Given the description of an element on the screen output the (x, y) to click on. 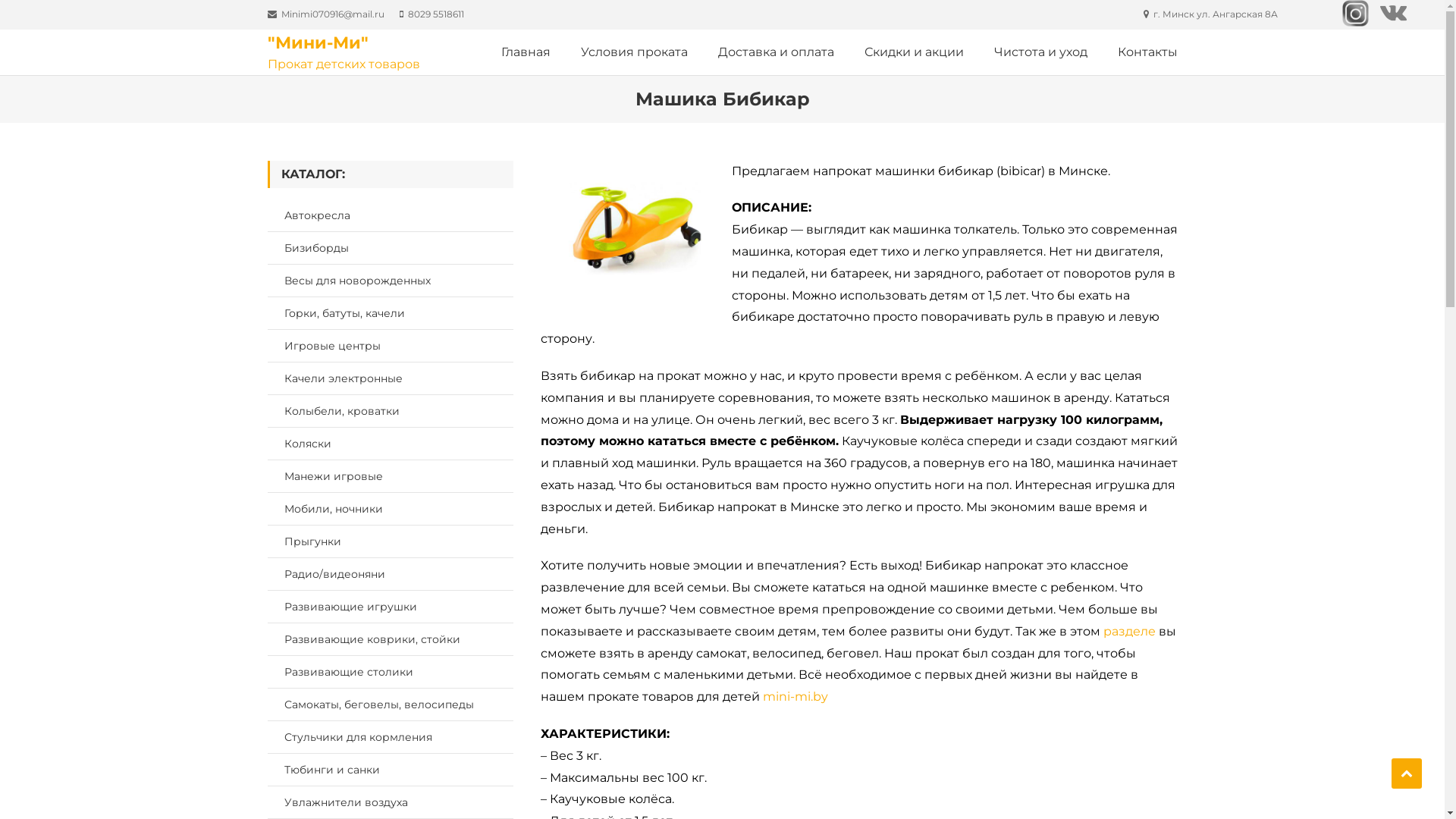
mini-mi.by Element type: text (795, 696)
